Given the description of an element on the screen output the (x, y) to click on. 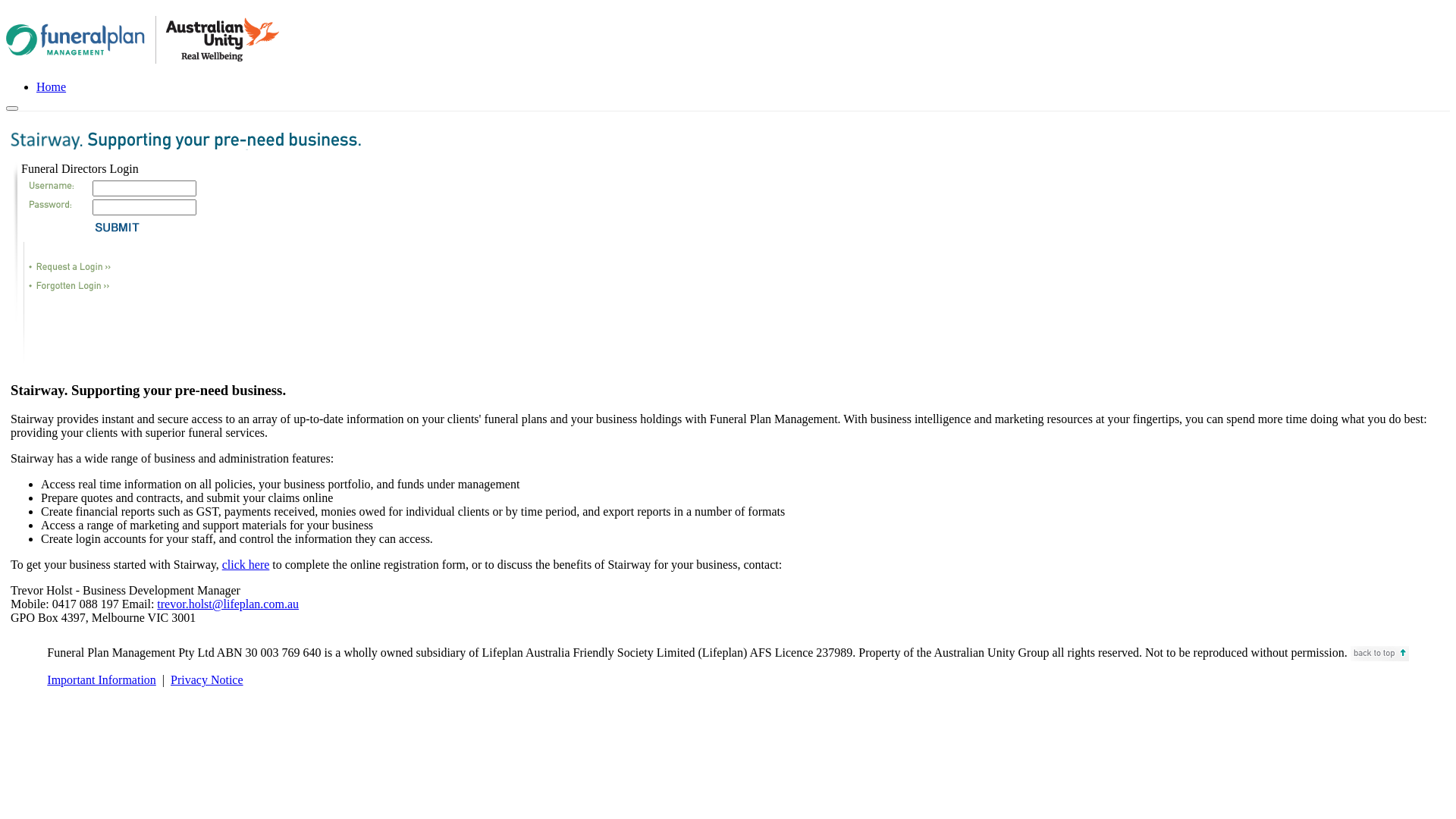
Funeral Plan Element type: hover (142, 39)
trevor.holst@lifeplan.com.au Element type: text (227, 603)
Home Element type: text (50, 86)
back to top Element type: hover (1379, 653)
Privacy Notice Element type: text (206, 679)
click here Element type: text (245, 564)
Important Information Element type: text (101, 679)
